Given the description of an element on the screen output the (x, y) to click on. 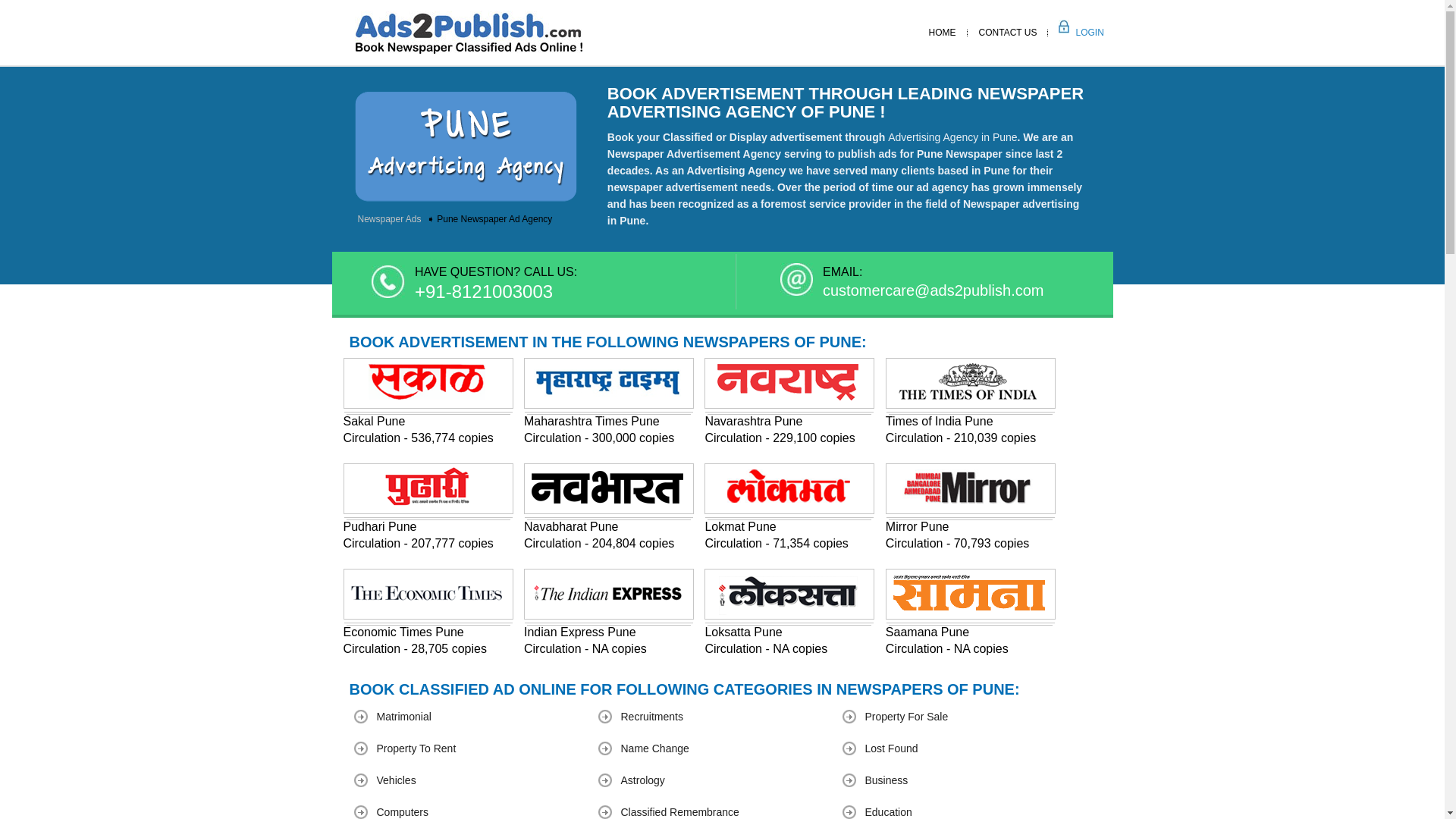
Astrology (641, 779)
Matrimonial (402, 716)
Newspaper Ads (390, 218)
Name Change (654, 748)
Property For Sale (905, 716)
Classified Remembrance (679, 811)
Recruitments (651, 716)
Property To Rent (415, 748)
Business (885, 779)
HOME (942, 32)
